Given the description of an element on the screen output the (x, y) to click on. 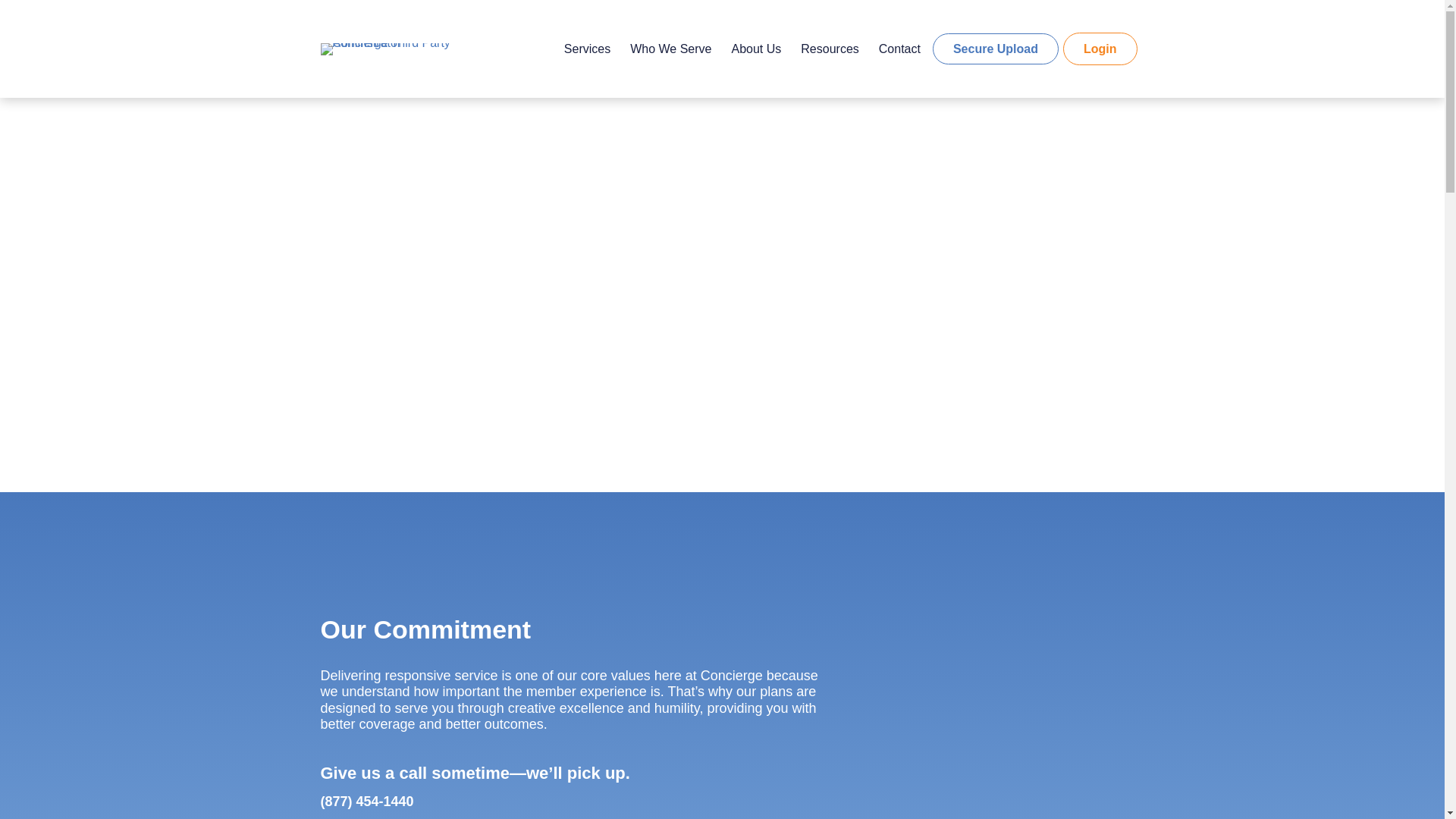
Access Member Portal (721, 392)
About Us (756, 48)
Contact (899, 48)
logo-banner (414, 49)
Services (586, 48)
Resources (829, 48)
Secure Upload (995, 48)
Who We Serve (671, 48)
Login (1099, 48)
